Given the description of an element on the screen output the (x, y) to click on. 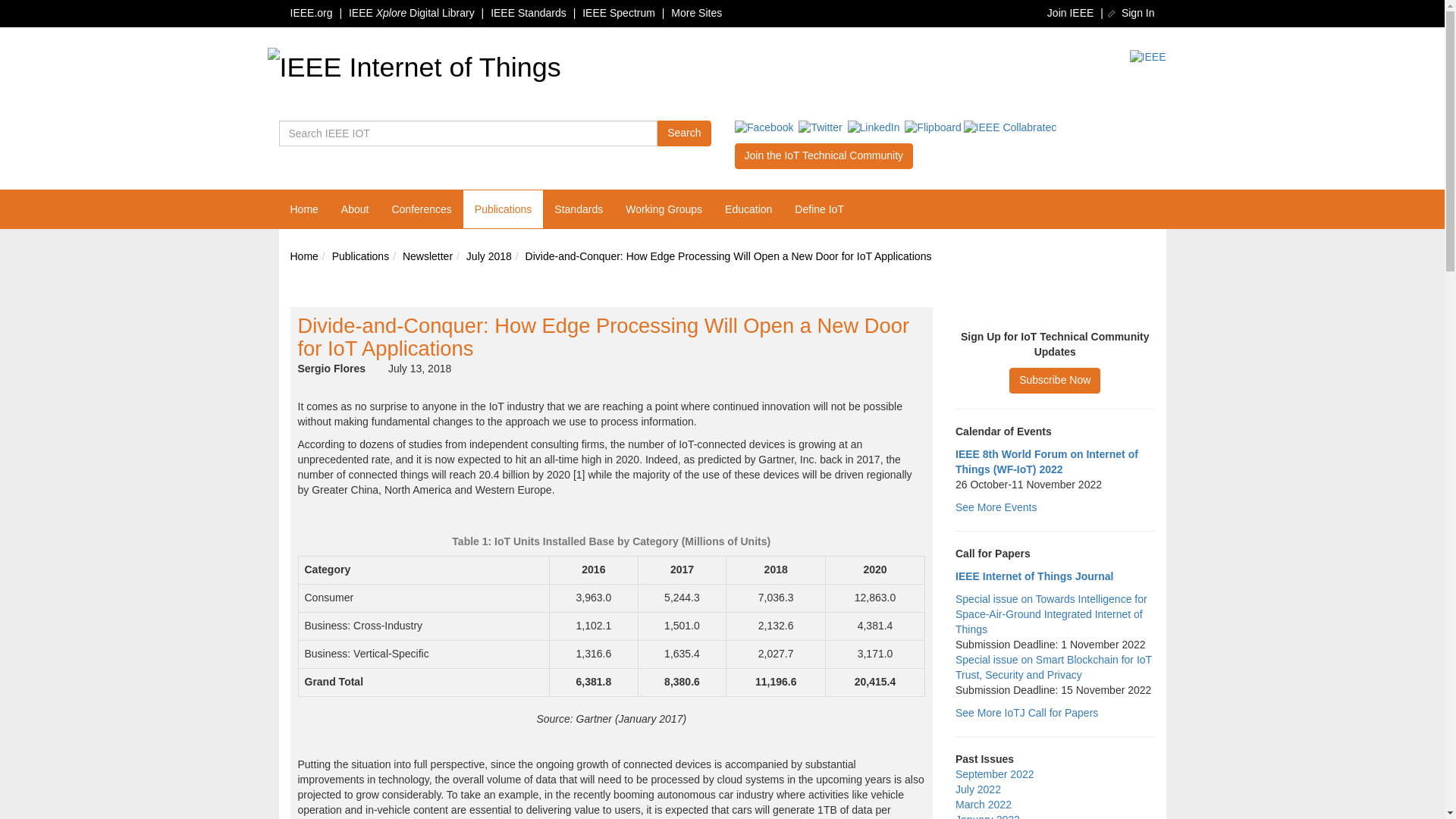
IEEE.org (310, 12)
IEEE Spectrum (618, 12)
IEEE Internet of Things (413, 67)
IEEE.org (310, 12)
About (355, 209)
IEEE Xplore Digital Library (411, 12)
IEEE Spectrum (618, 12)
IEEE.org (1147, 57)
Home (303, 256)
Standards (578, 209)
